Given the description of an element on the screen output the (x, y) to click on. 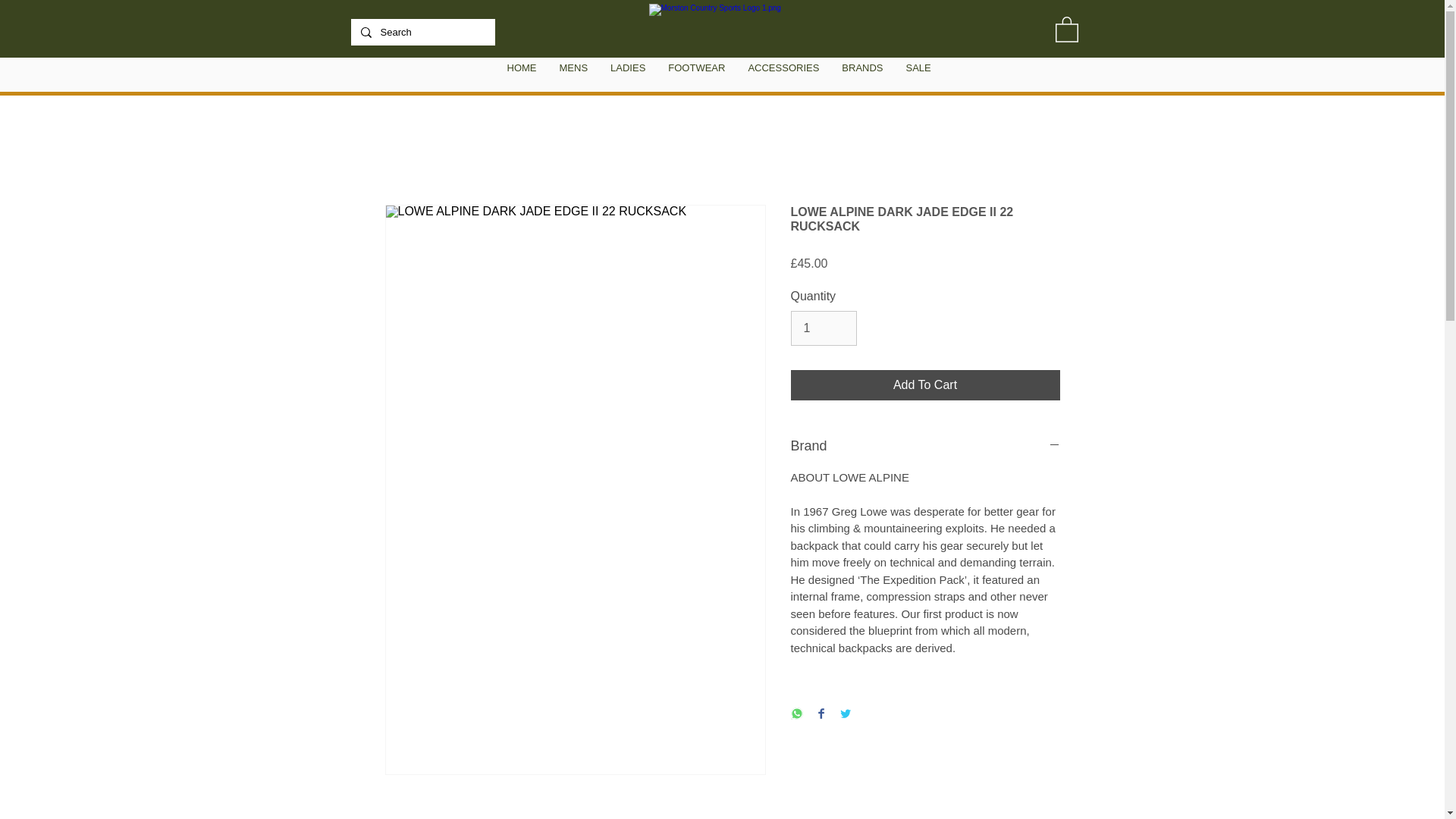
1 (823, 328)
HOME (522, 74)
FOOTWEAR (696, 74)
